Given the description of an element on the screen output the (x, y) to click on. 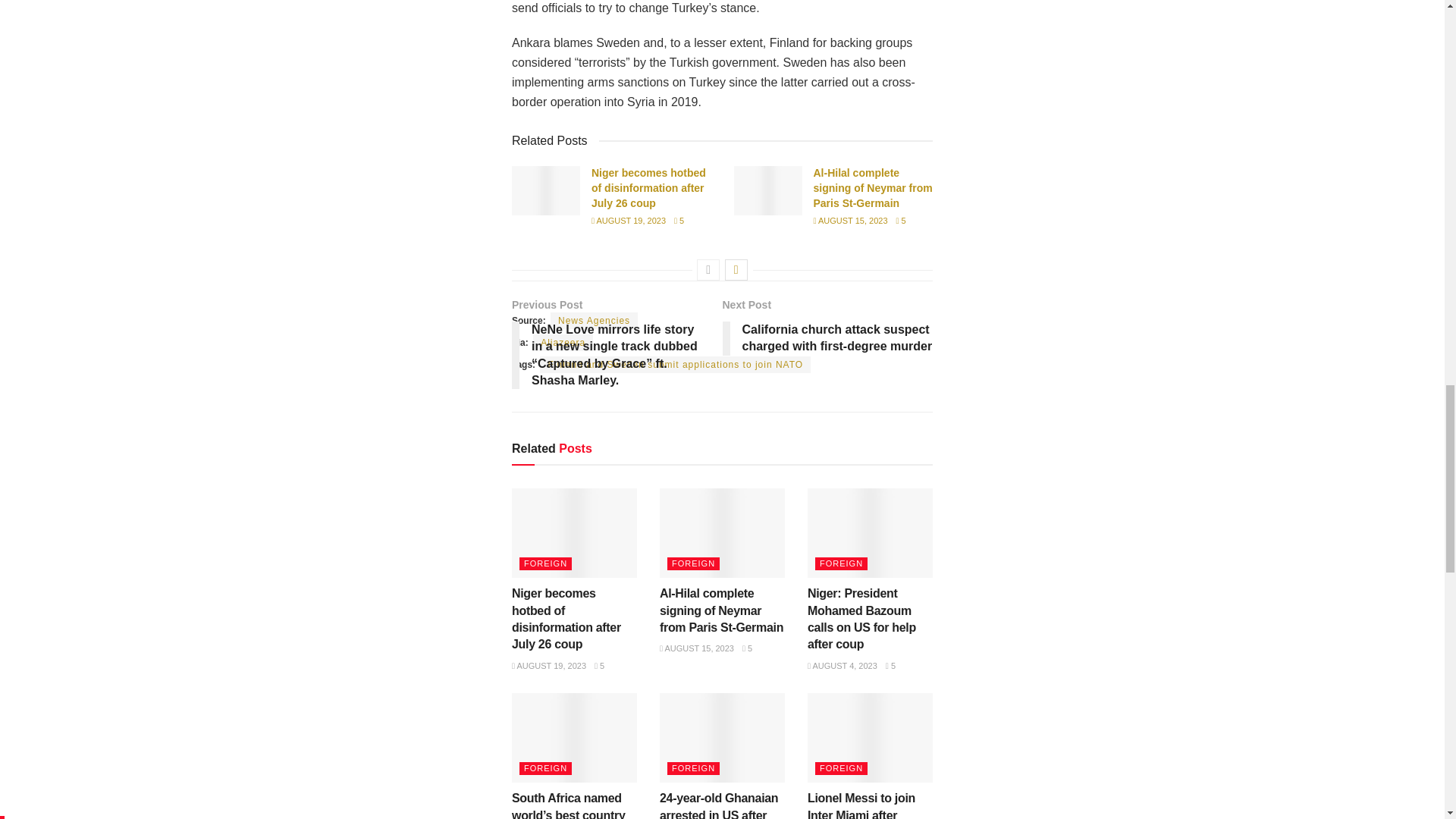
Next (736, 269)
Previous (708, 269)
